Given the description of an element on the screen output the (x, y) to click on. 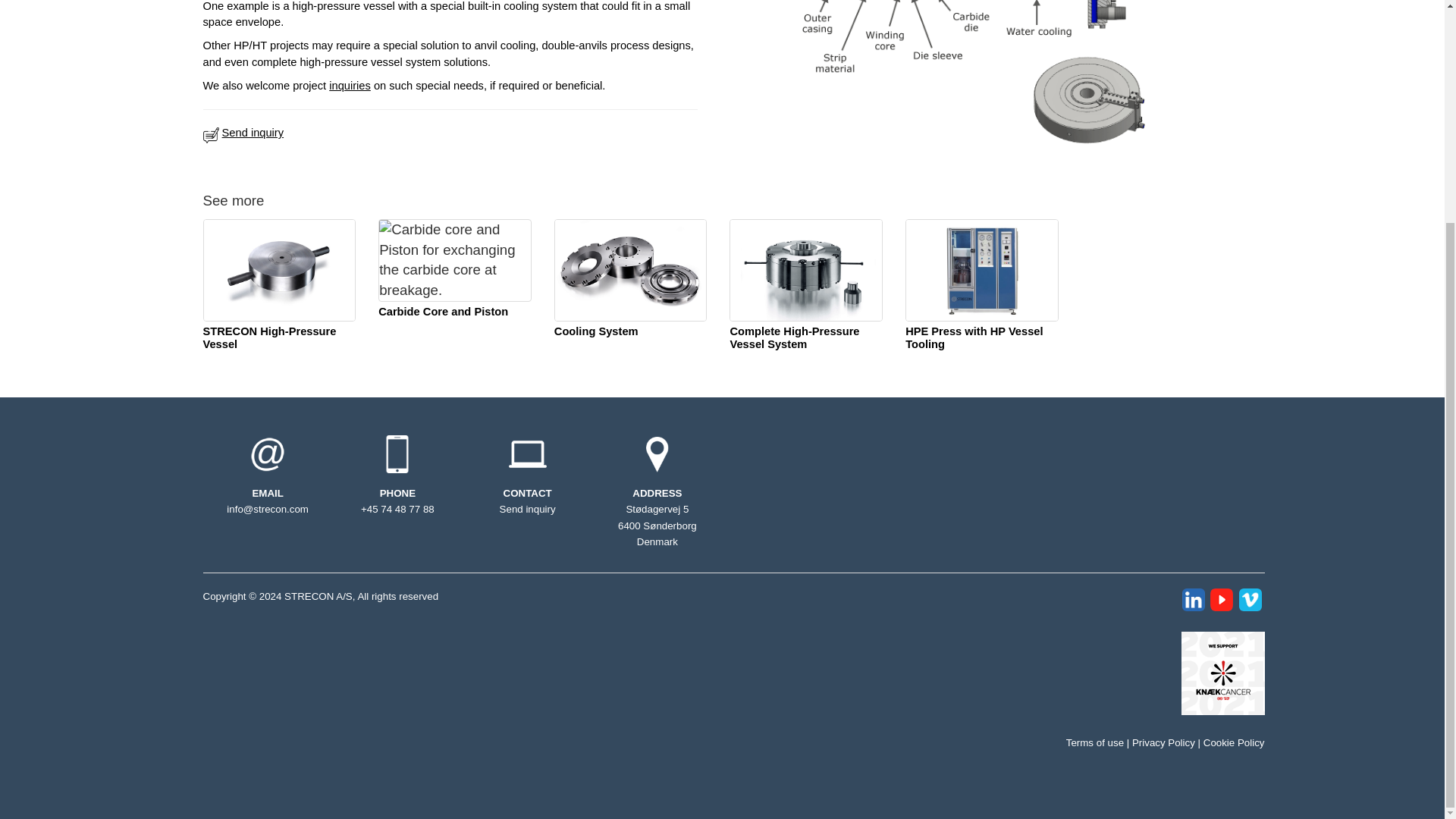
Vimeo logo (1250, 599)
LinkedIn logo (1193, 599)
Youtube logo (1221, 599)
